Given the description of an element on the screen output the (x, y) to click on. 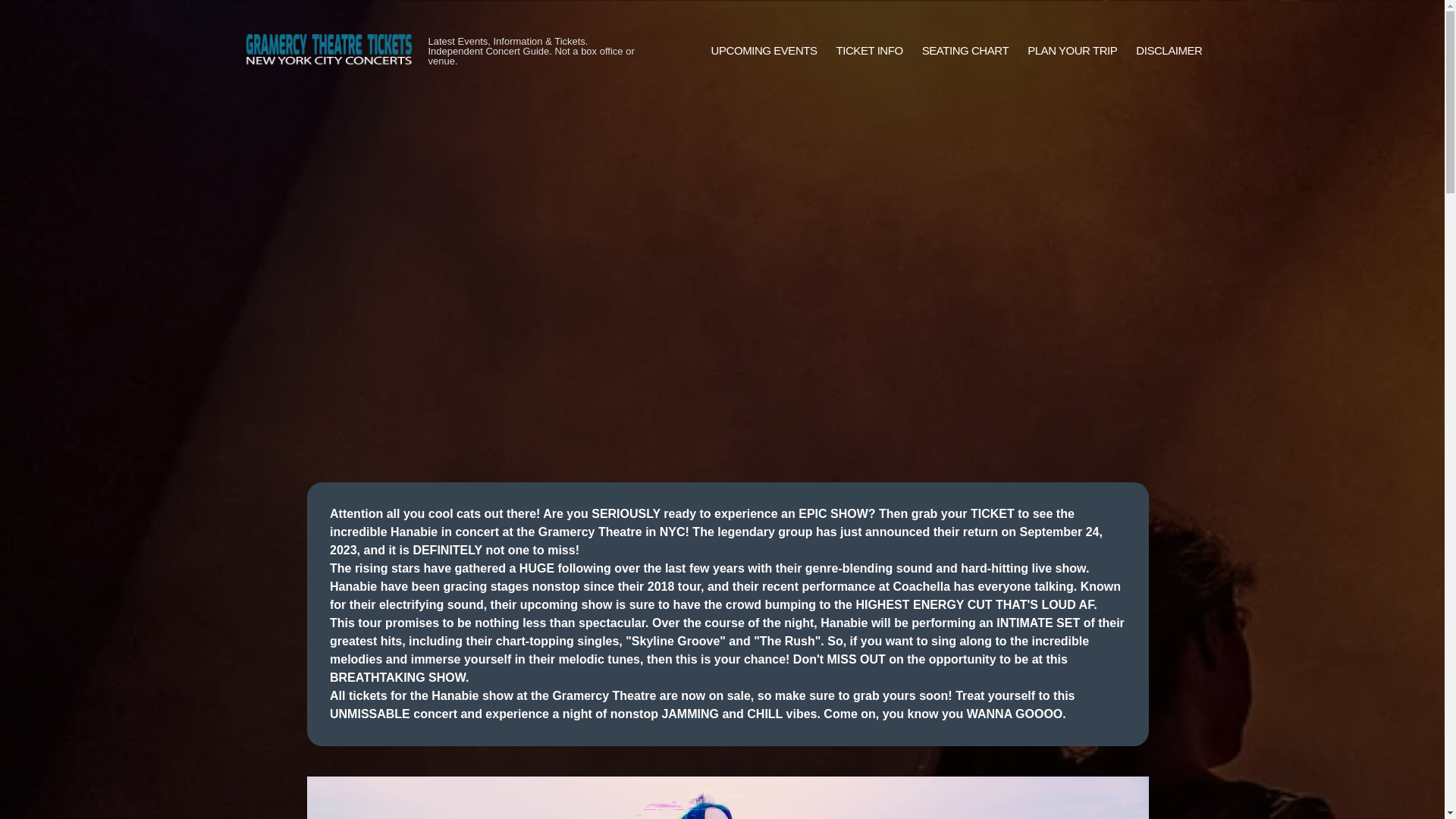
UPCOMING EVENTS (763, 50)
Hanabie at Gramercy Theatre (727, 797)
SEATING CHART (965, 50)
TICKET INFO (868, 50)
DISCLAIMER (1168, 50)
PLAN YOUR TRIP (1071, 50)
